Given the description of an element on the screen output the (x, y) to click on. 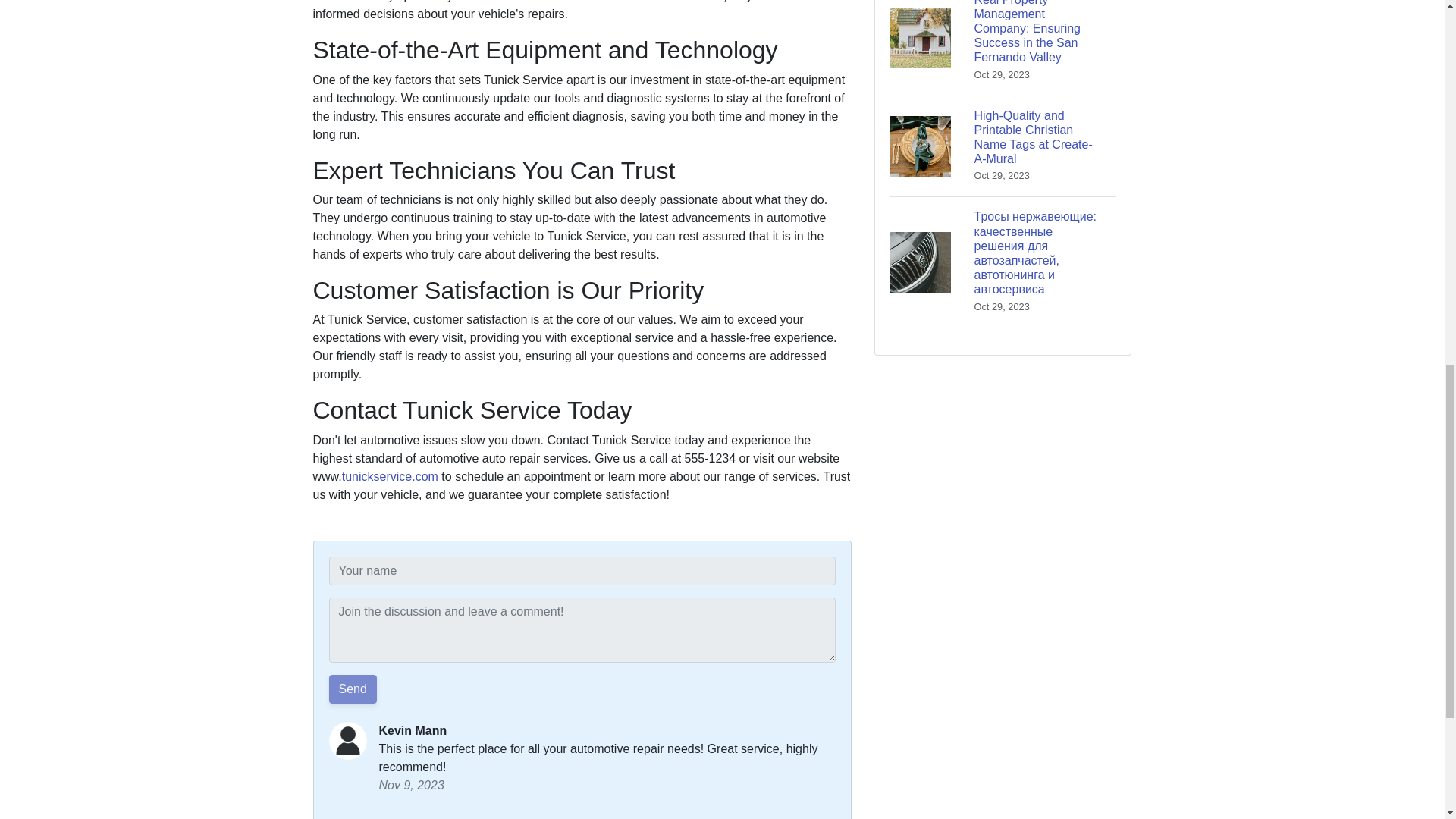
Send (353, 688)
tunickservice.com (390, 476)
Send (353, 688)
